Given the description of an element on the screen output the (x, y) to click on. 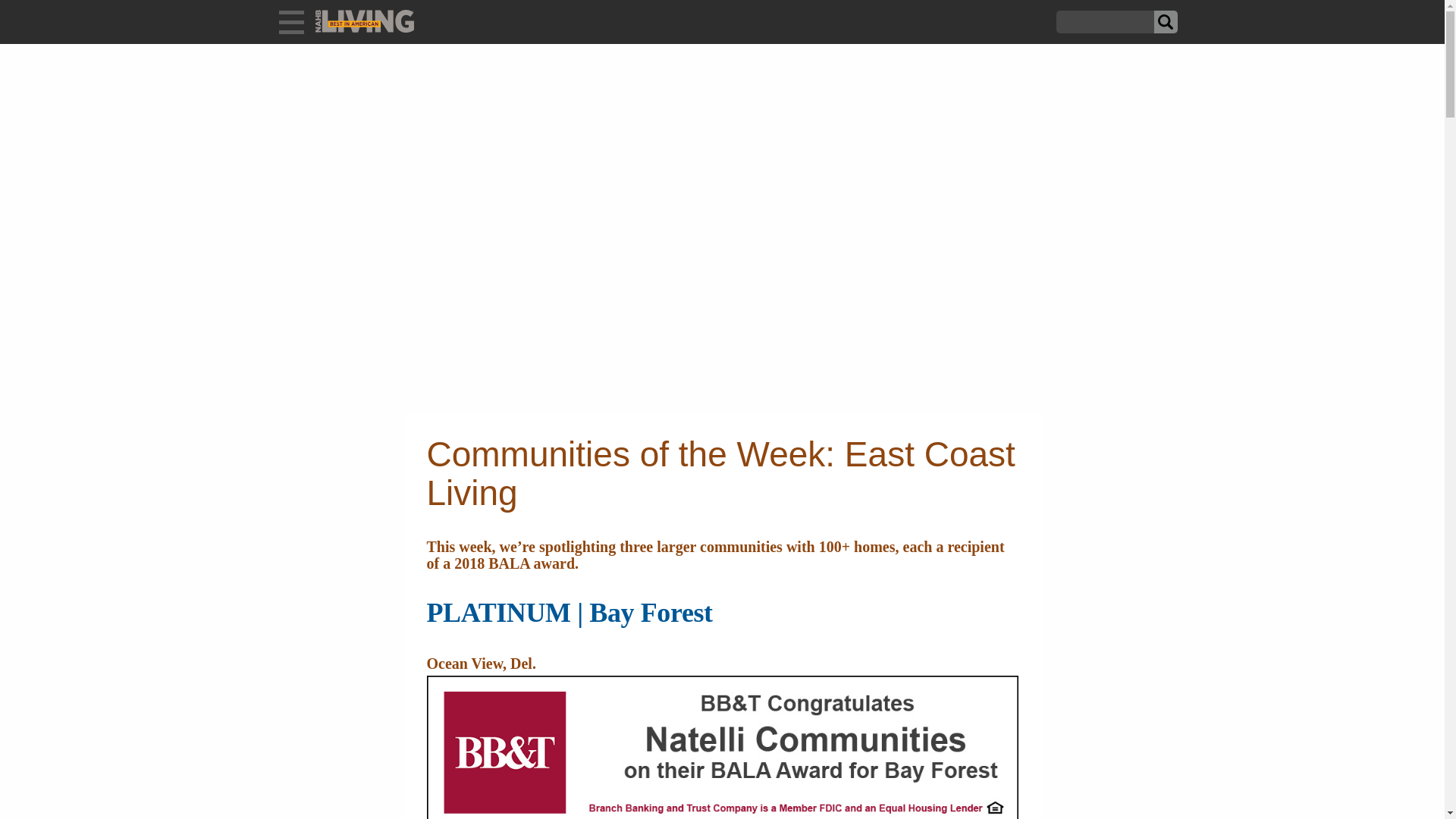
Search for: (1104, 21)
